Given the description of an element on the screen output the (x, y) to click on. 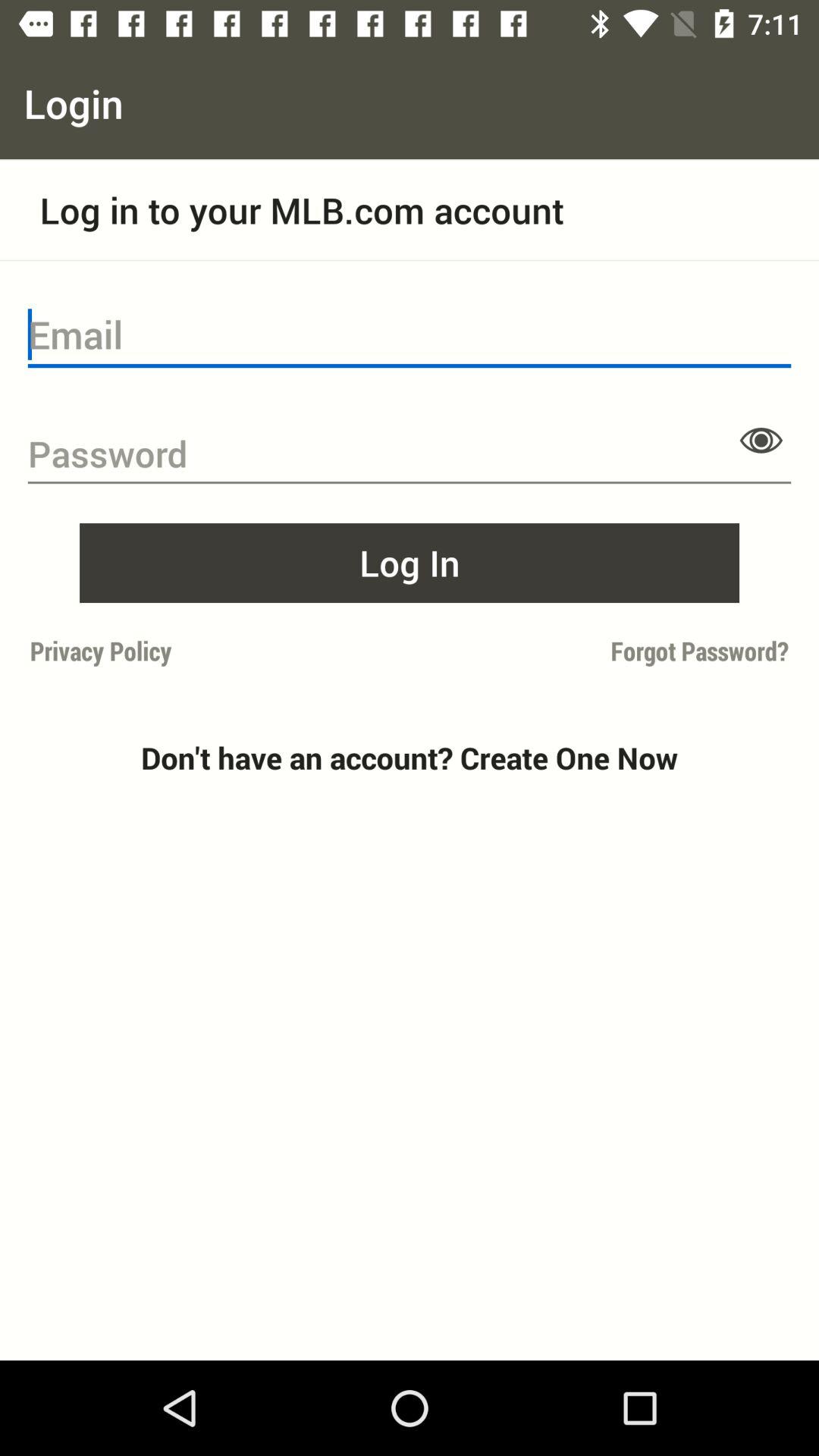
email input (409, 334)
